Given the description of an element on the screen output the (x, y) to click on. 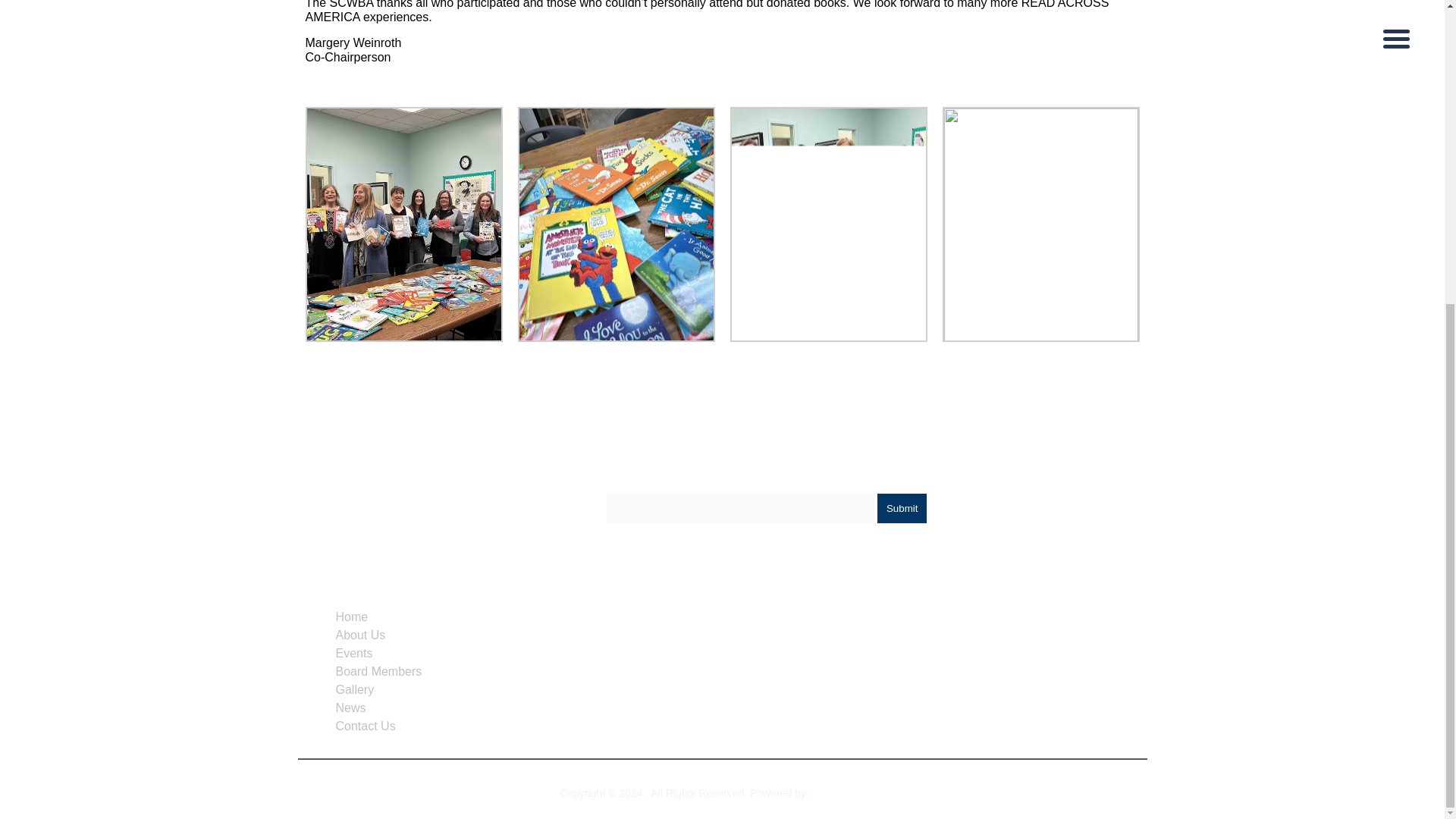
WebDesignYou (848, 793)
Submit (901, 508)
631-224-7196 (717, 644)
News (349, 707)
Contact Us (364, 725)
Board Members (378, 671)
Gallery (354, 689)
Submit (901, 508)
Events (353, 653)
Home (351, 616)
About Us (359, 634)
